Given the description of an element on the screen output the (x, y) to click on. 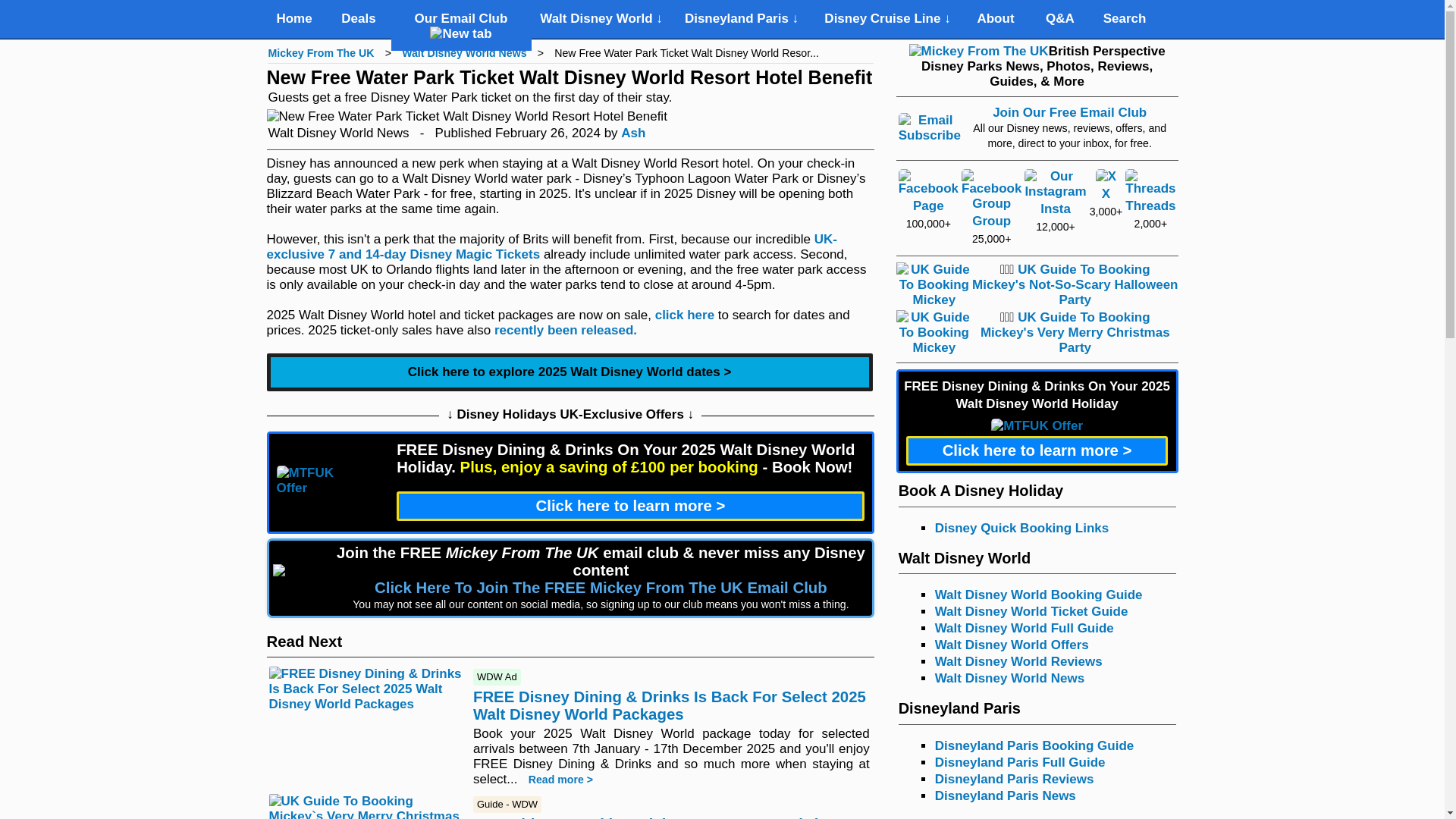
Deals (358, 19)
click here (684, 314)
Disney Parks Questions (1060, 19)
Walt Disney World Deals Offers And Discounts (358, 19)
Our Email Club (461, 26)
Walt Disney World News (463, 52)
Ash (633, 133)
About (994, 19)
Search (1124, 19)
Mickey From The UK (320, 52)
Mickey From The UK (320, 52)
Mickey From The UK Search (1124, 19)
New Tab (460, 33)
Home (294, 19)
